Given the description of an element on the screen output the (x, y) to click on. 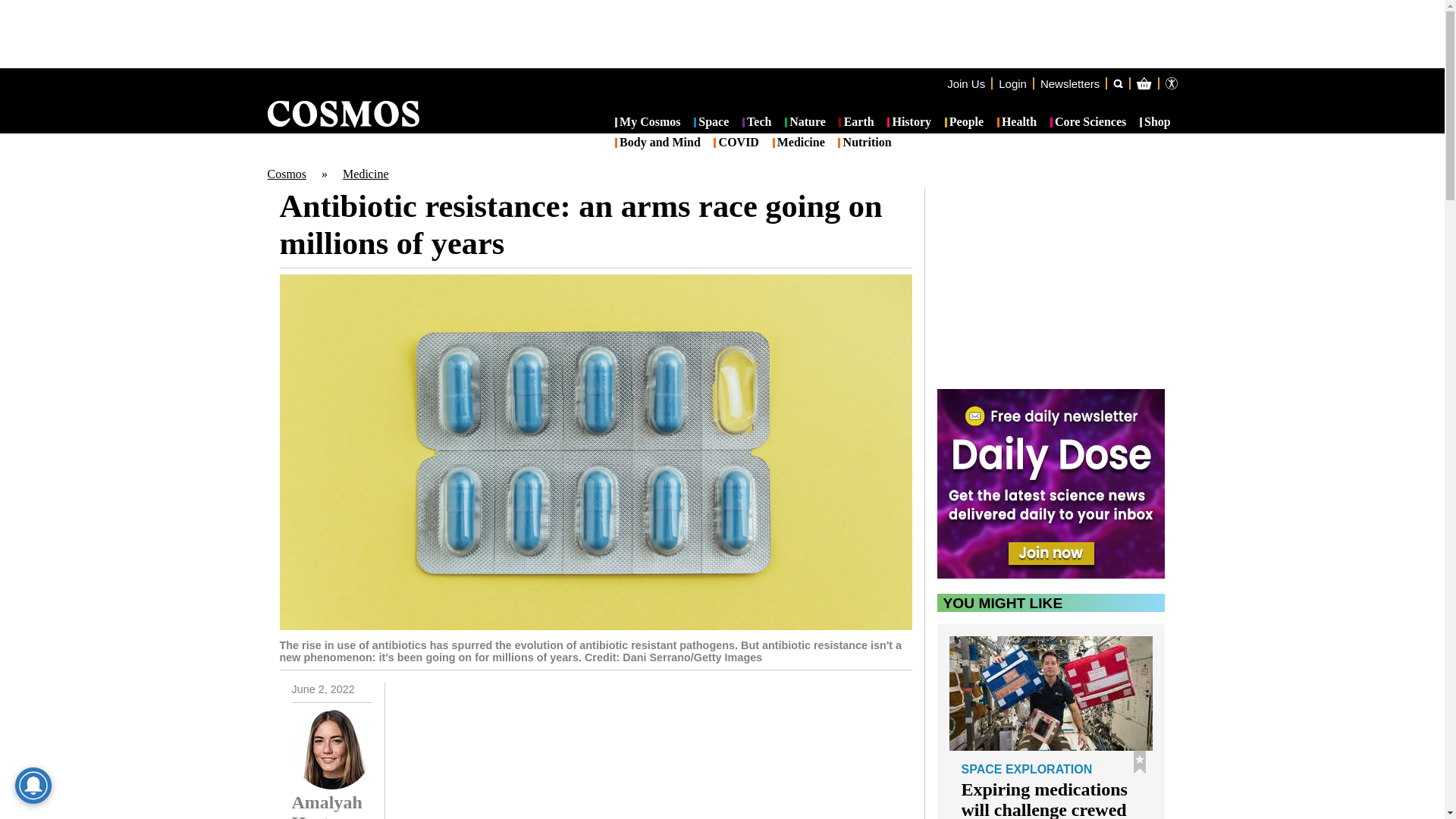
Huh? Science Explained (648, 750)
COVID (735, 143)
History (908, 122)
Nutrition (864, 143)
Medicine (365, 173)
Body and Mind (657, 143)
Join Us (966, 82)
Health (1016, 122)
Nature (804, 122)
Accessibility Tools (1170, 82)
Cosmos (285, 173)
Tech (756, 122)
My Cosmos (647, 122)
People (964, 122)
Login (1012, 82)
